Given the description of an element on the screen output the (x, y) to click on. 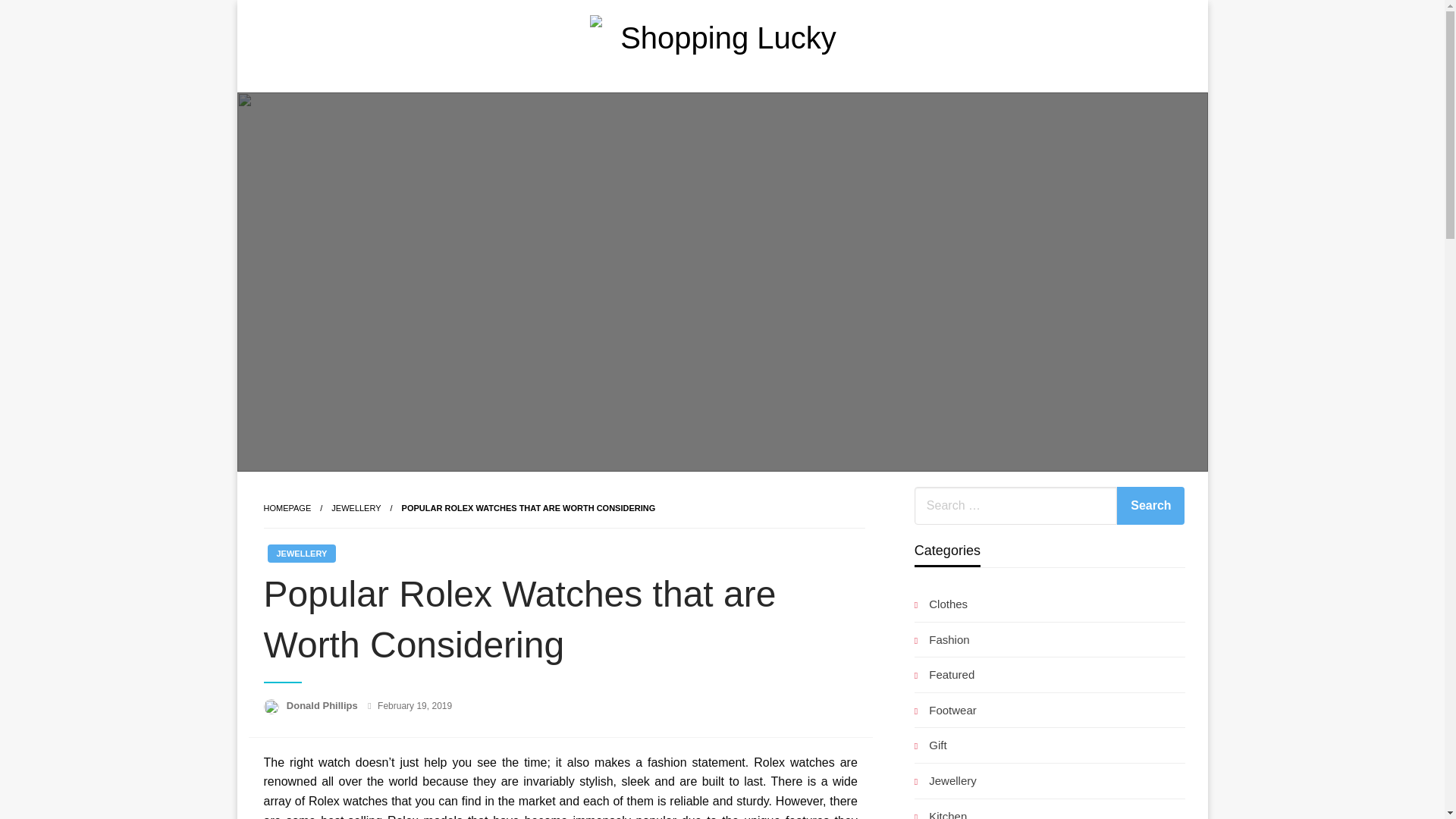
Shopping Lucky (697, 103)
Popular Rolex Watches that are Worth Considering (528, 507)
JEWELLERY (355, 507)
Donald Phillips (323, 705)
Homepage (287, 507)
Jewellery (355, 507)
JEWELLERY (301, 553)
HOMEPAGE (287, 507)
February 19, 2019 (414, 706)
Donald Phillips (323, 705)
Search (1150, 505)
Search (1150, 505)
